Given the description of an element on the screen output the (x, y) to click on. 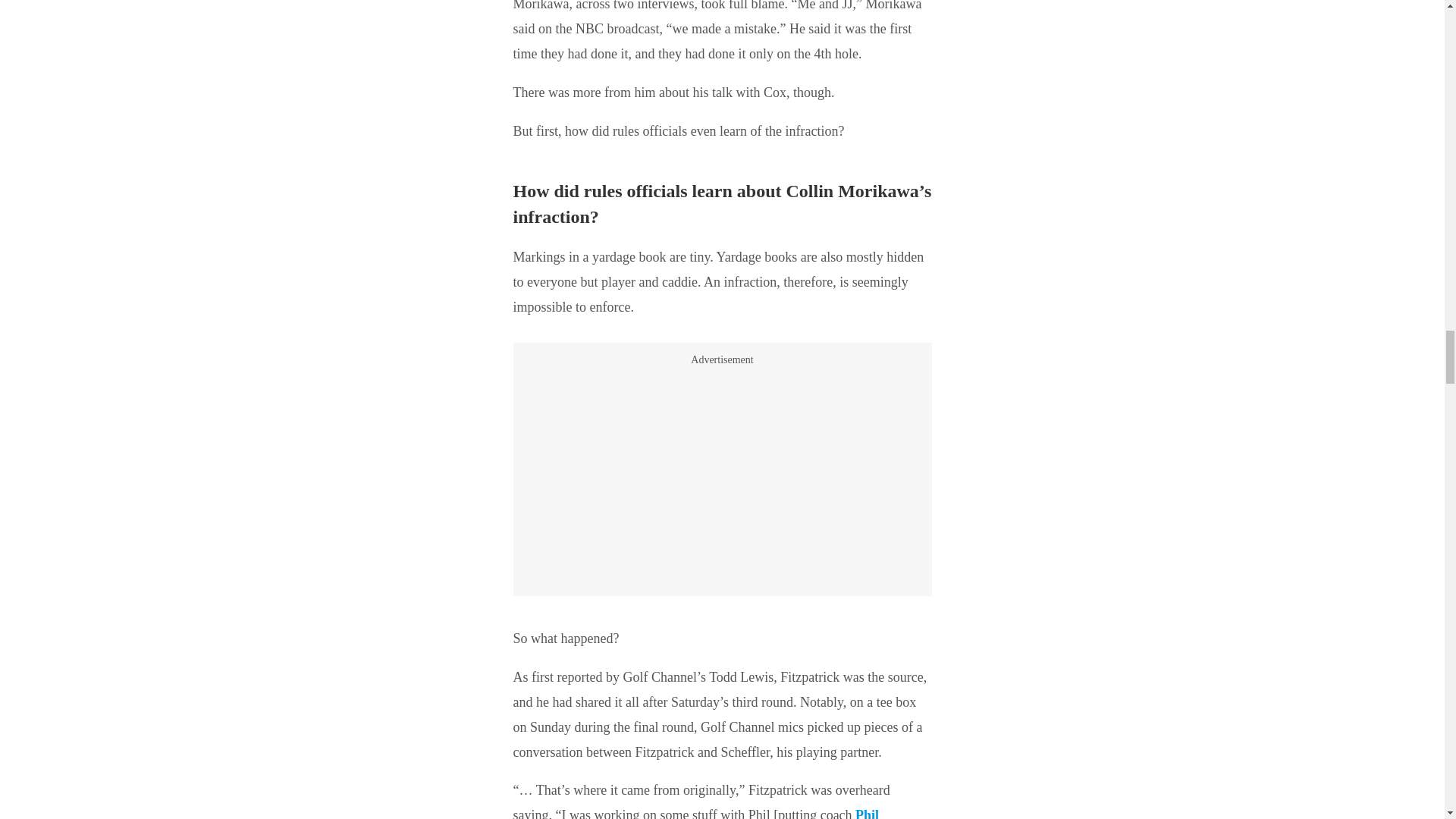
Phil Kenyon (695, 813)
